Given the description of an element on the screen output the (x, y) to click on. 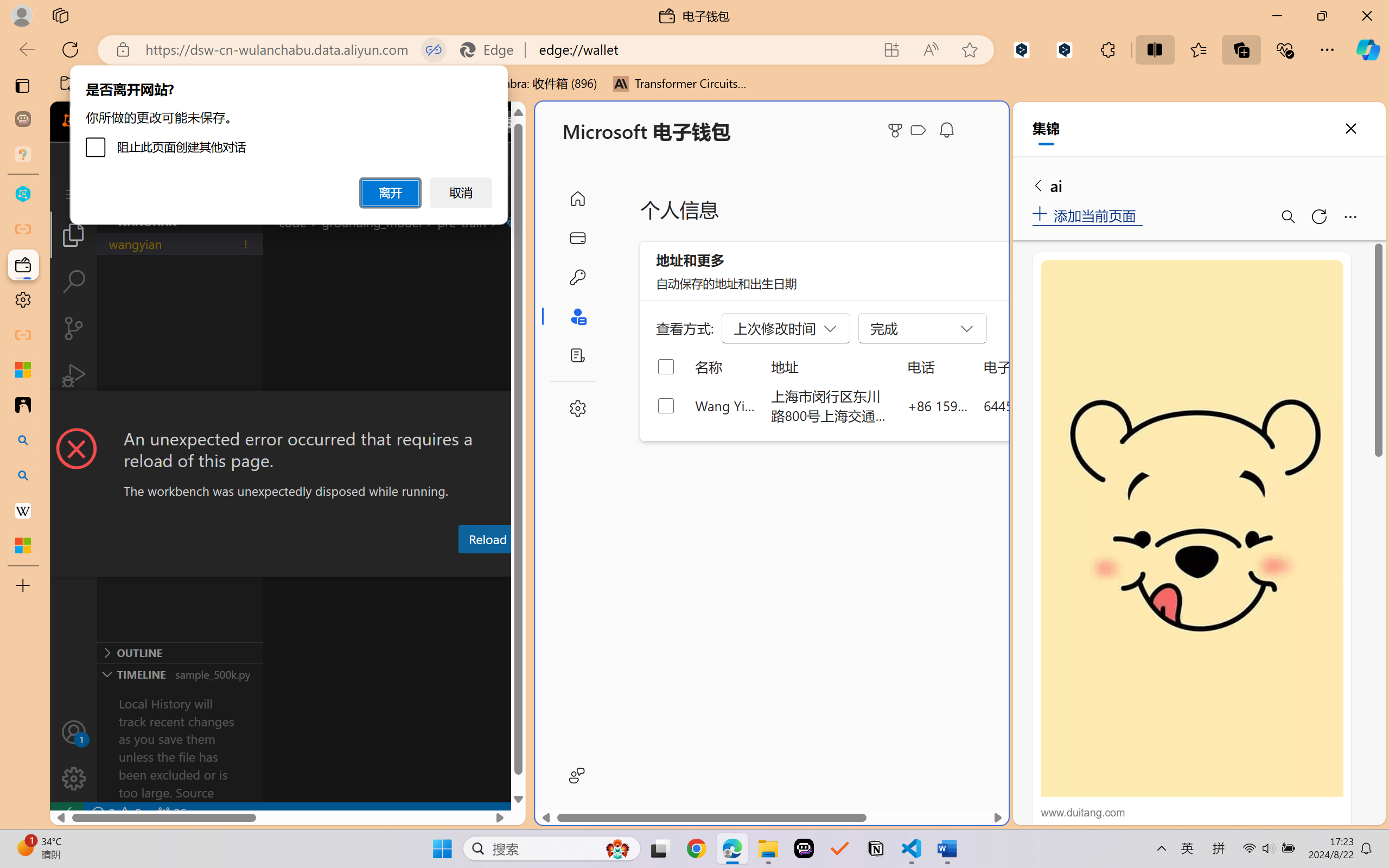
Class: actions-container (287, 410)
Microsoft security help and learning (22, 369)
No Problems (115, 812)
